Given the description of an element on the screen output the (x, y) to click on. 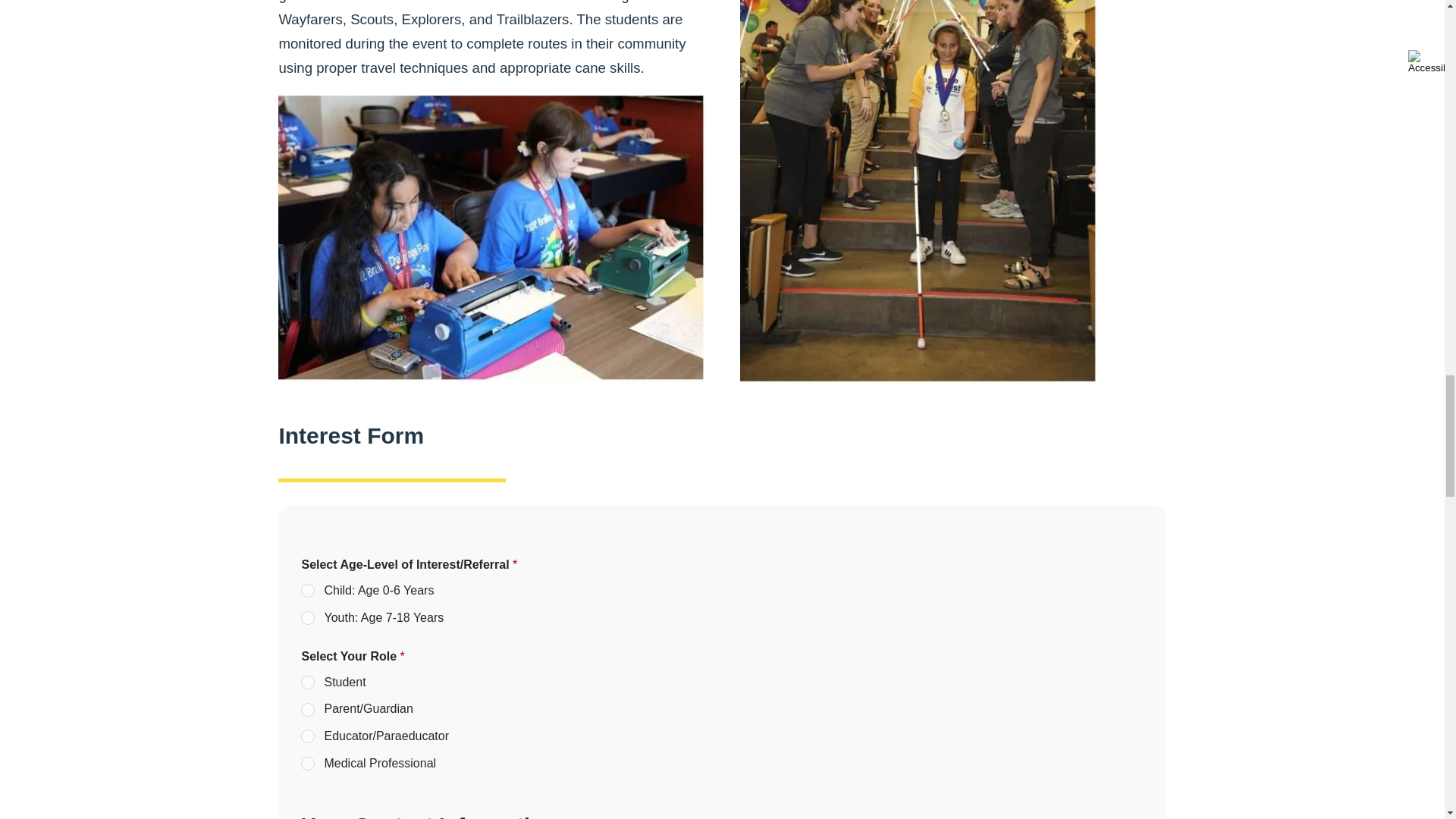
Medical Professional (308, 764)
Child:  Age 0-6 Years (308, 591)
Youth: Age 7-18 Years (308, 618)
Student (308, 683)
